Given the description of an element on the screen output the (x, y) to click on. 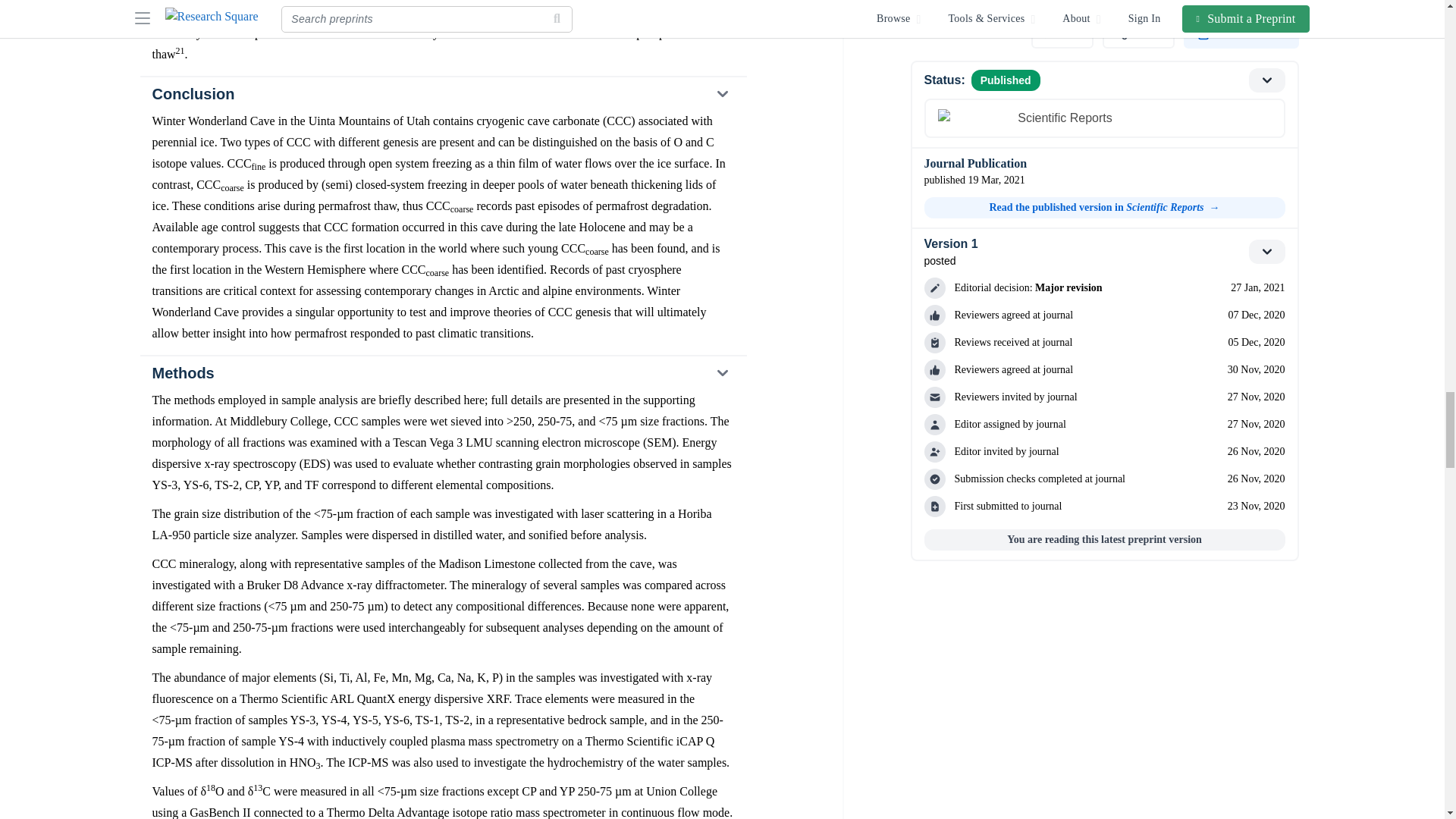
Conclusion (442, 93)
